Given the description of an element on the screen output the (x, y) to click on. 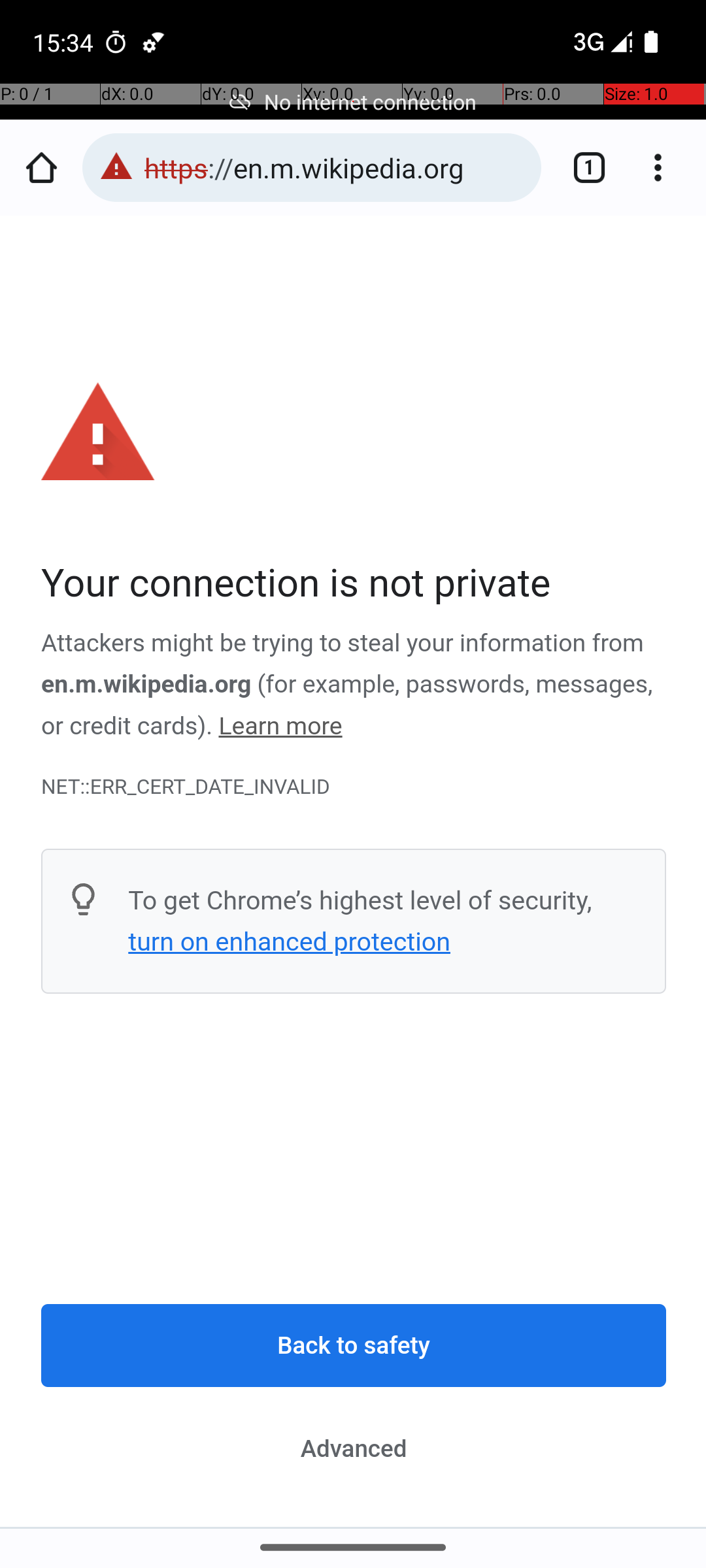
https://en.m.wikipedia.org Element type: android.widget.EditText (335, 167)
en.m.wikipedia.org Element type: android.widget.TextView (146, 684)
Android System notification: Wi‑Fi will turn on automatically Element type: android.widget.ImageView (153, 41)
